Given the description of an element on the screen output the (x, y) to click on. 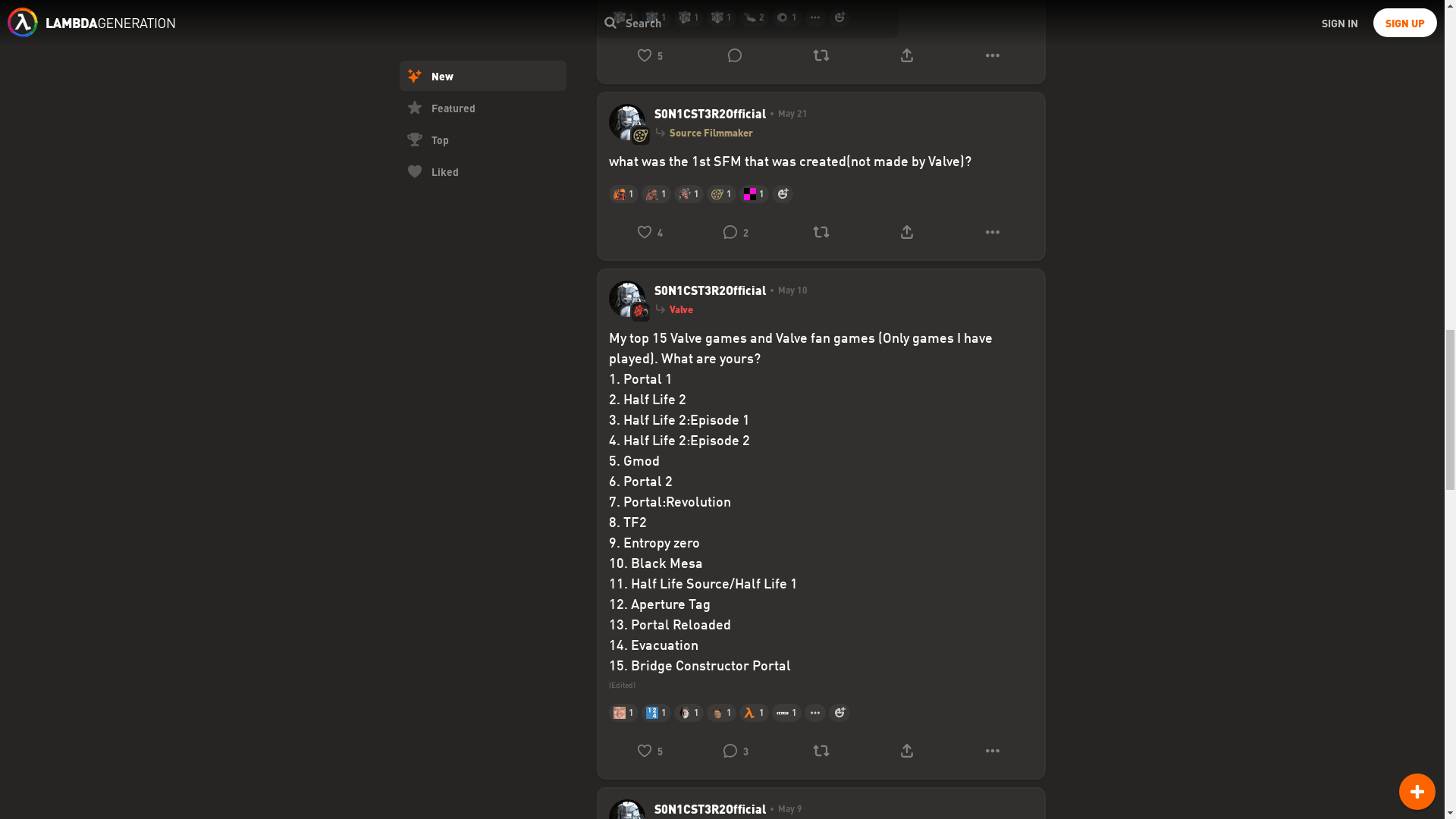
S0N1CST3R2Official (709, 113)
May 21 (786, 113)
Source Filmmaker (710, 132)
2 (735, 231)
